Given the description of an element on the screen output the (x, y) to click on. 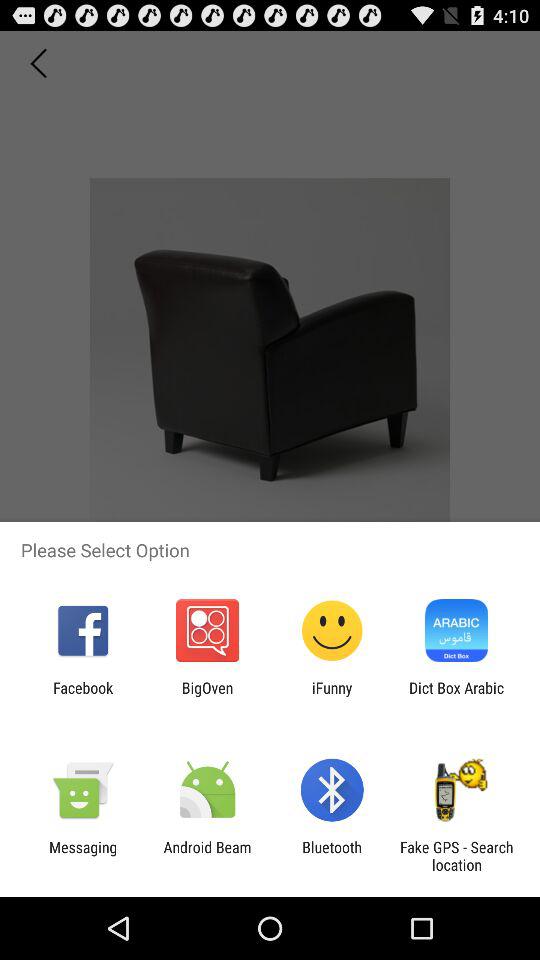
click fake gps search icon (456, 856)
